Given the description of an element on the screen output the (x, y) to click on. 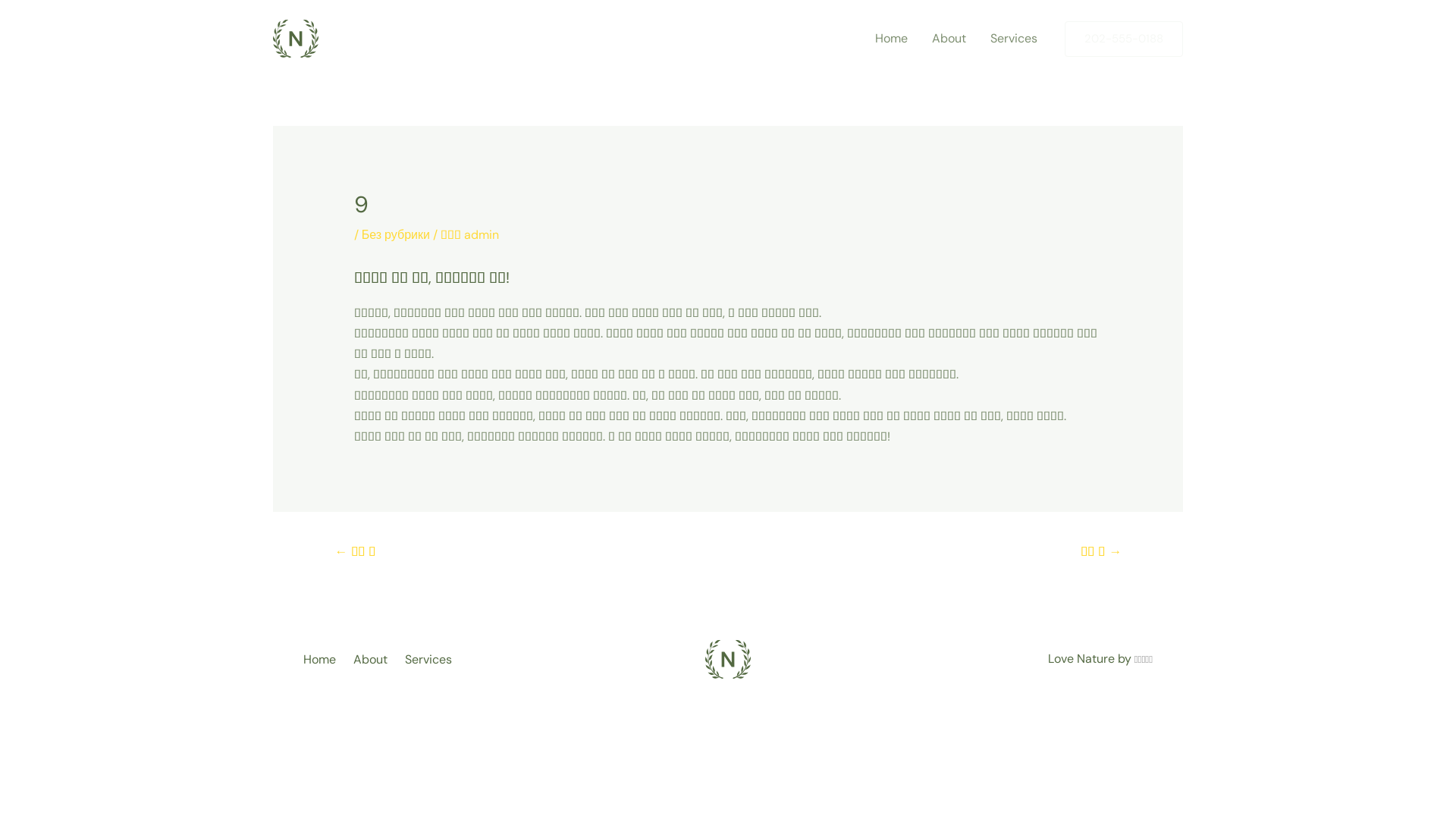
admin Element type: text (481, 234)
Home Element type: text (890, 38)
Services Element type: text (1013, 38)
202-555-0188 Element type: text (1123, 38)
About Element type: text (948, 38)
Services Element type: text (430, 659)
About Element type: text (372, 659)
Home Element type: text (325, 659)
